Given the description of an element on the screen output the (x, y) to click on. 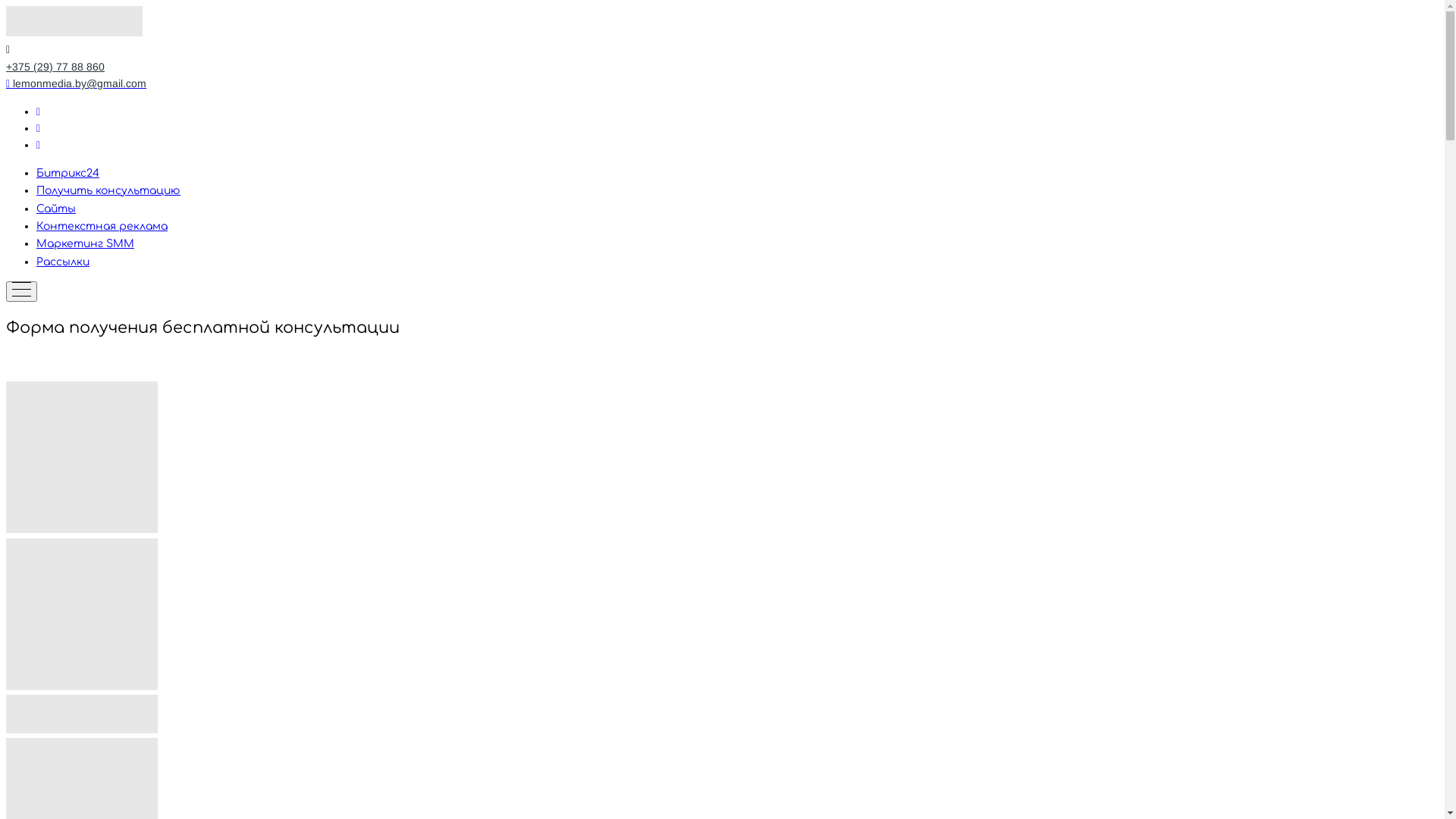
lemonmedia.by@gmail.com Element type: text (76, 83)
+375 (29) 77 88 860 Element type: text (55, 66)
